Given the description of an element on the screen output the (x, y) to click on. 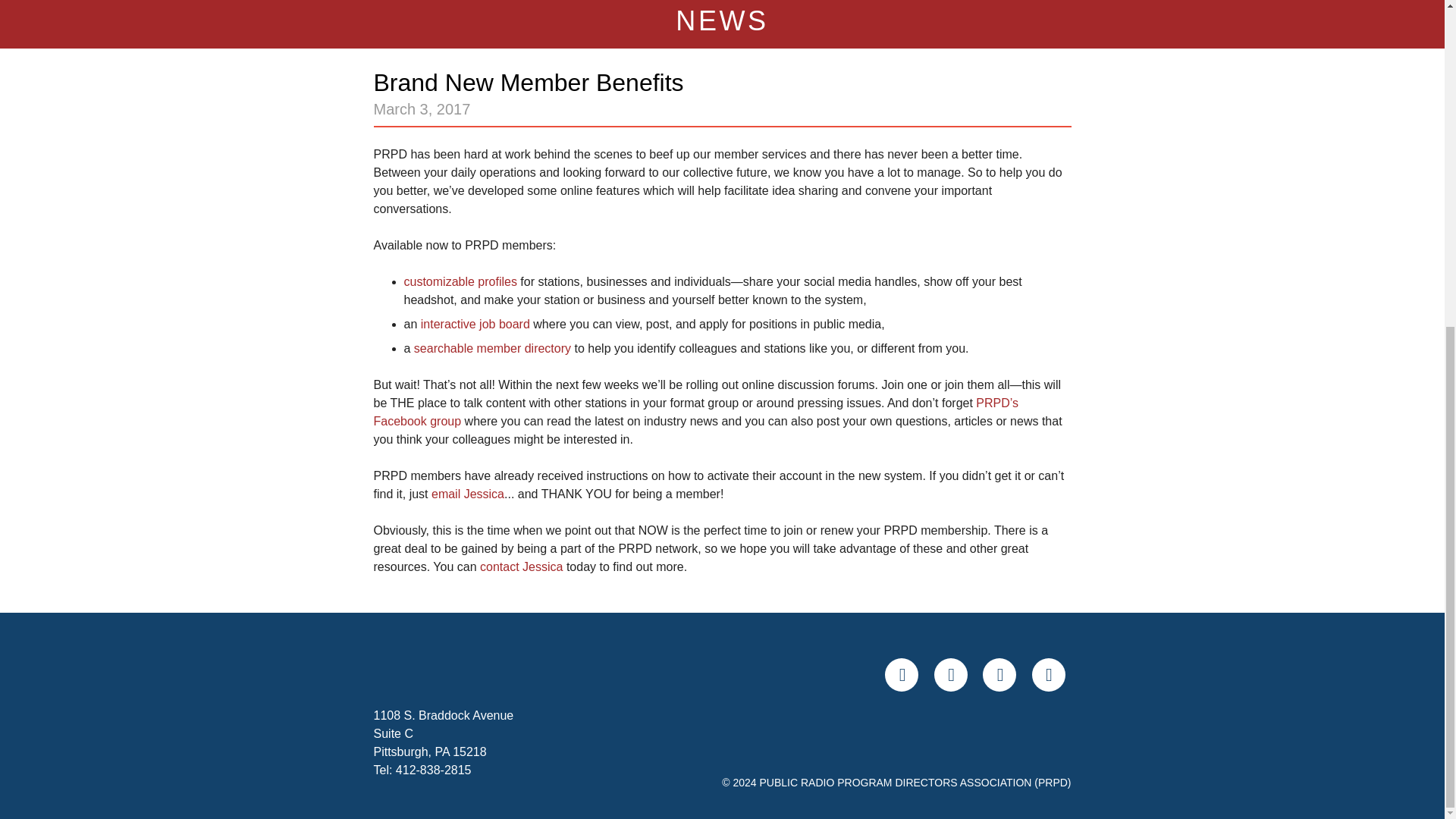
Instagram (999, 674)
Facebook (901, 674)
Twitter (951, 674)
Newsletter (1047, 674)
Home (448, 671)
